Given the description of an element on the screen output the (x, y) to click on. 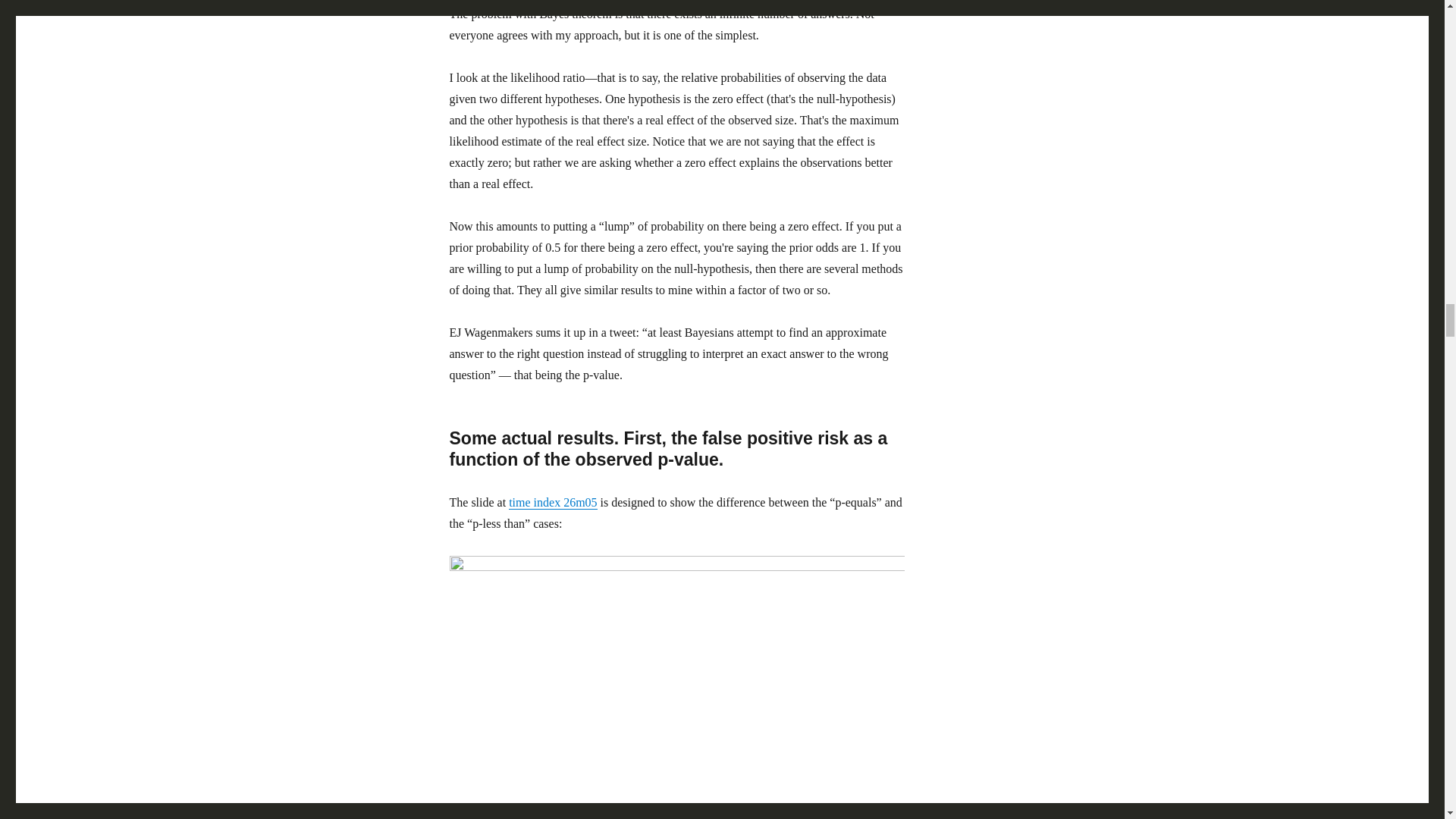
time index 2 (538, 502)
m05 (585, 502)
6 (572, 502)
